Given the description of an element on the screen output the (x, y) to click on. 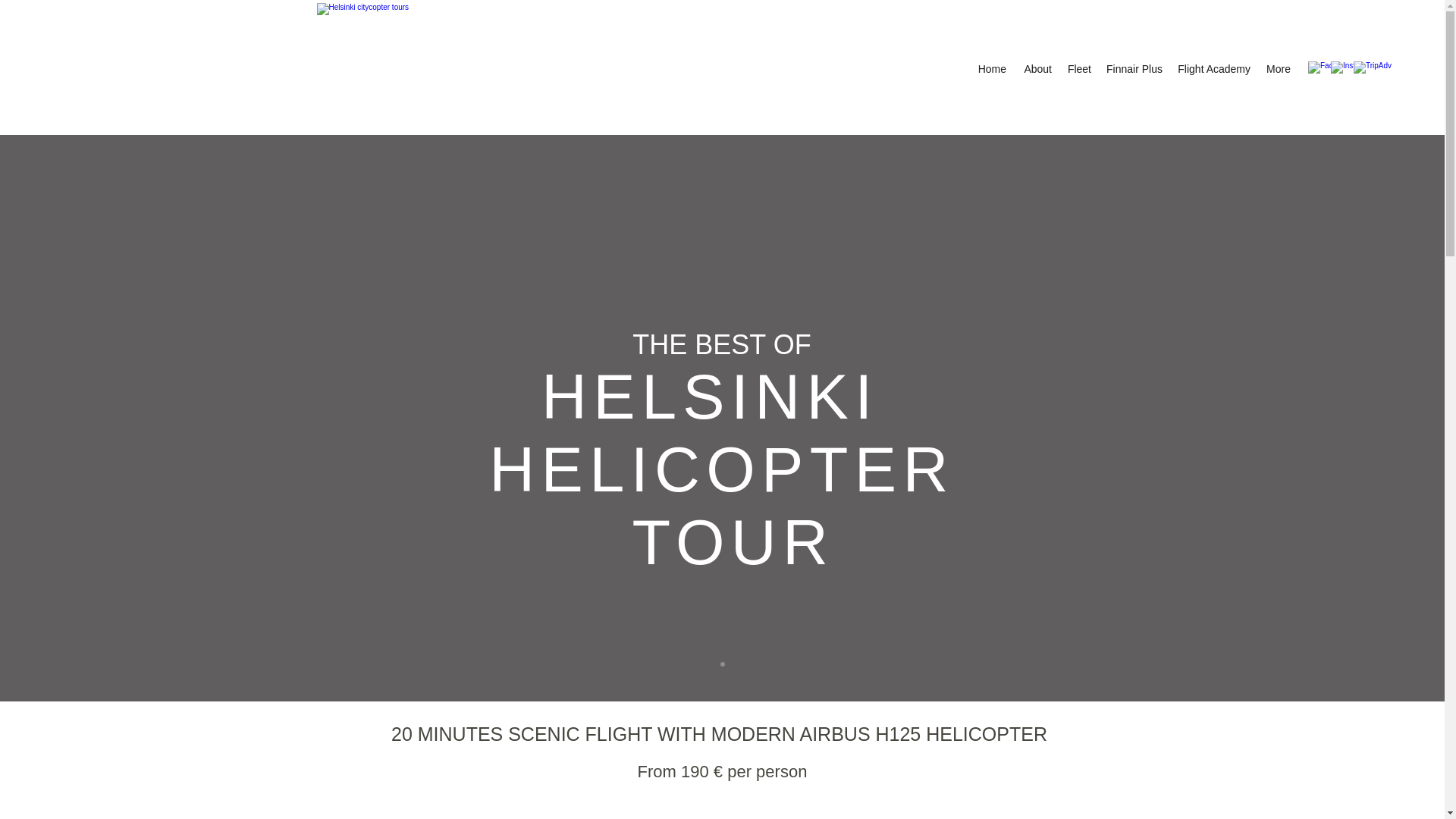
Flight Academy (1212, 68)
Fleet (1079, 68)
About (1036, 68)
Finnair Plus (1133, 68)
Home (991, 68)
